Given the description of an element on the screen output the (x, y) to click on. 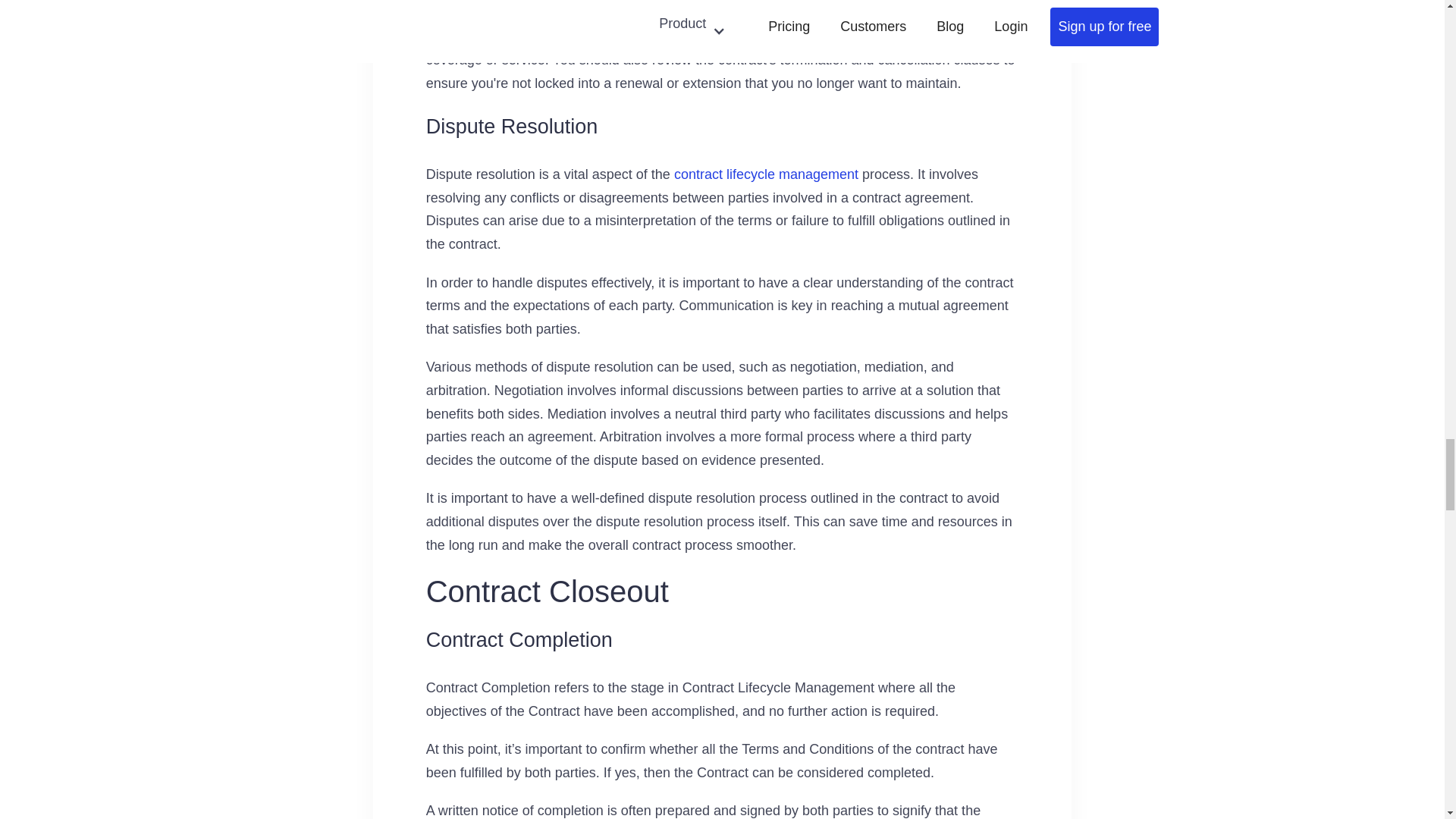
contract lifecycle management (766, 174)
